Given the description of an element on the screen output the (x, y) to click on. 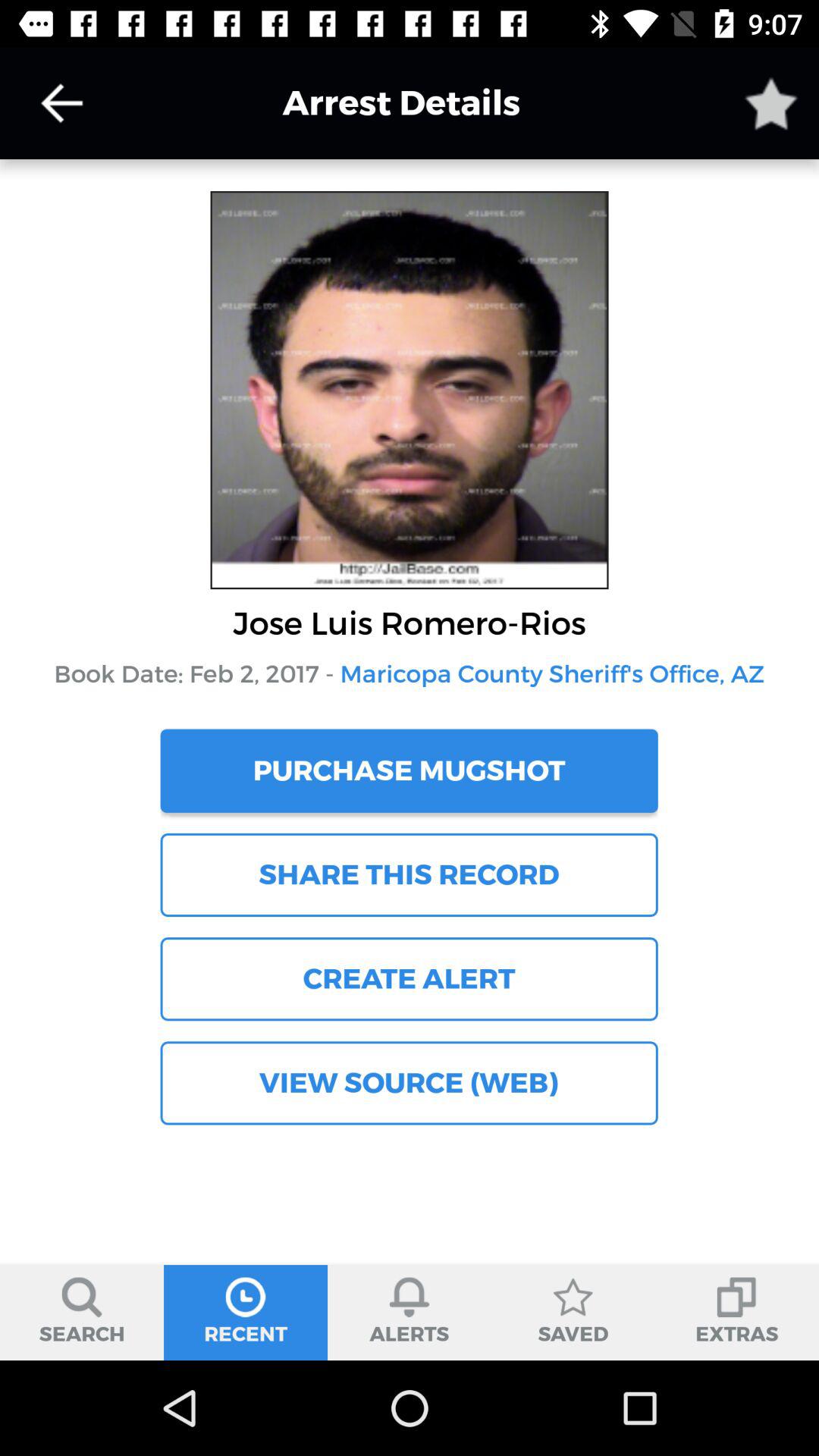
press arrest details item (377, 103)
